Given the description of an element on the screen output the (x, y) to click on. 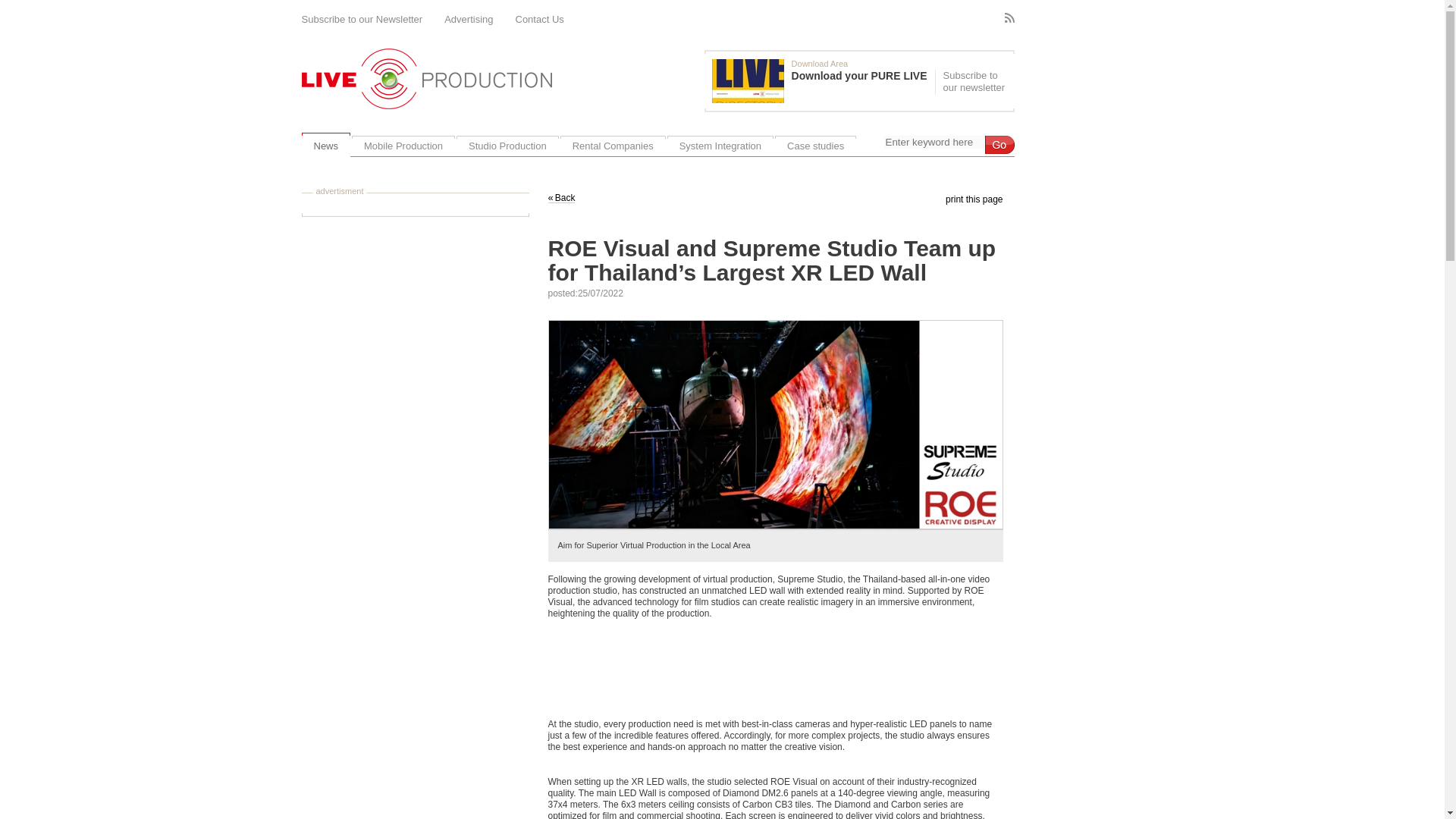
Publication (822, 80)
Go (998, 144)
RSS (1008, 17)
Contact Us (539, 19)
Subscribe to our Newsletter (362, 19)
PURE LIVE 2018 (747, 80)
Advertising (468, 19)
Subscribe to our newsletter (972, 82)
